Given the description of an element on the screen output the (x, y) to click on. 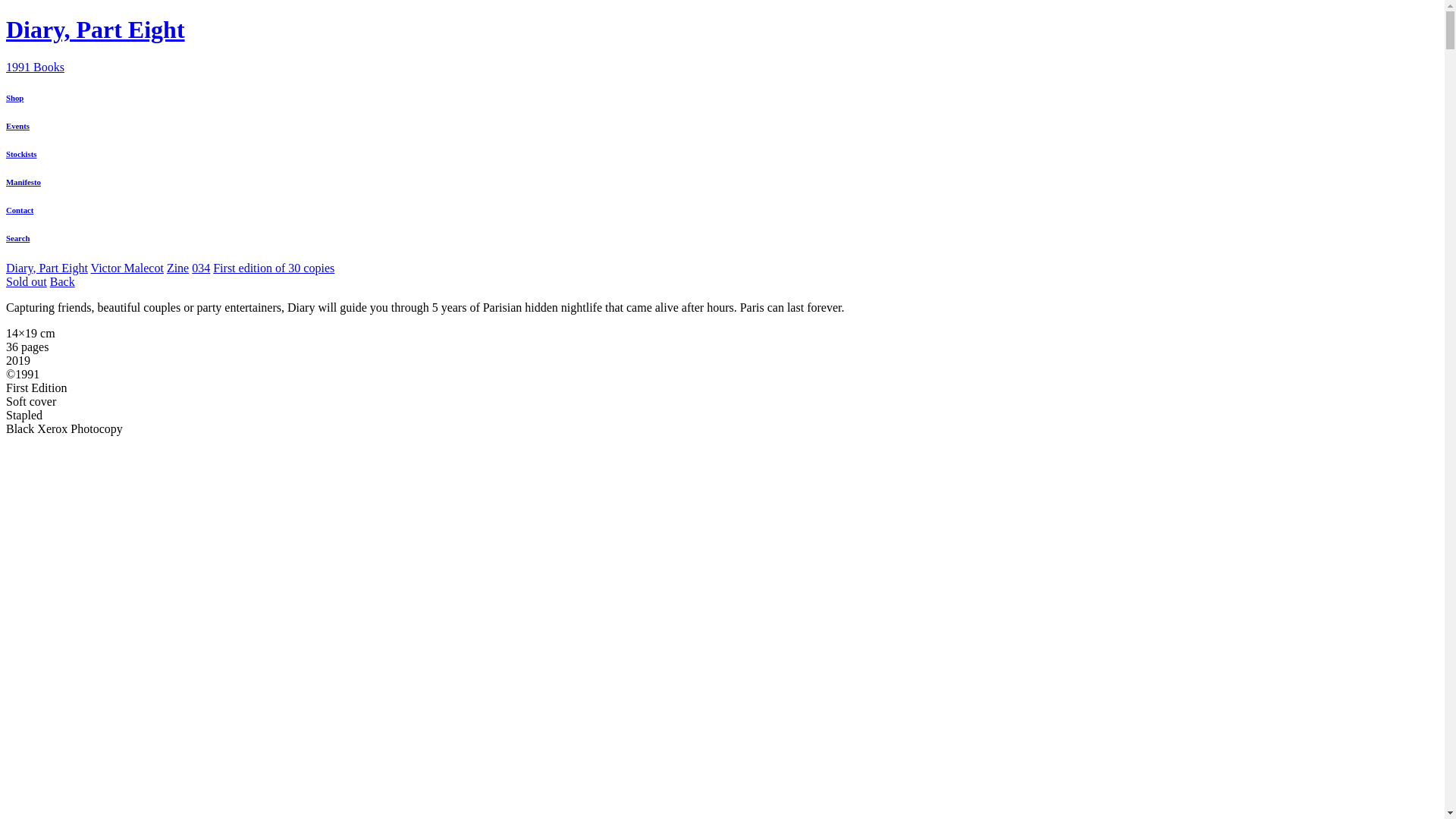
Stockists Element type: text (722, 153)
Sold out Element type: text (26, 281)
034 Element type: text (200, 267)
Diary, Part Eight Element type: text (46, 267)
Zine Element type: text (177, 267)
Manifesto Element type: text (722, 181)
Diary, Part Eight
1991 Books Element type: text (722, 43)
Victor Malecot Element type: text (127, 267)
Events Element type: text (722, 125)
Search Element type: text (722, 237)
Back Element type: text (62, 281)
Contact Element type: text (722, 209)
First edition of 30 copies Element type: text (273, 267)
Shop Element type: text (722, 97)
